Given the description of an element on the screen output the (x, y) to click on. 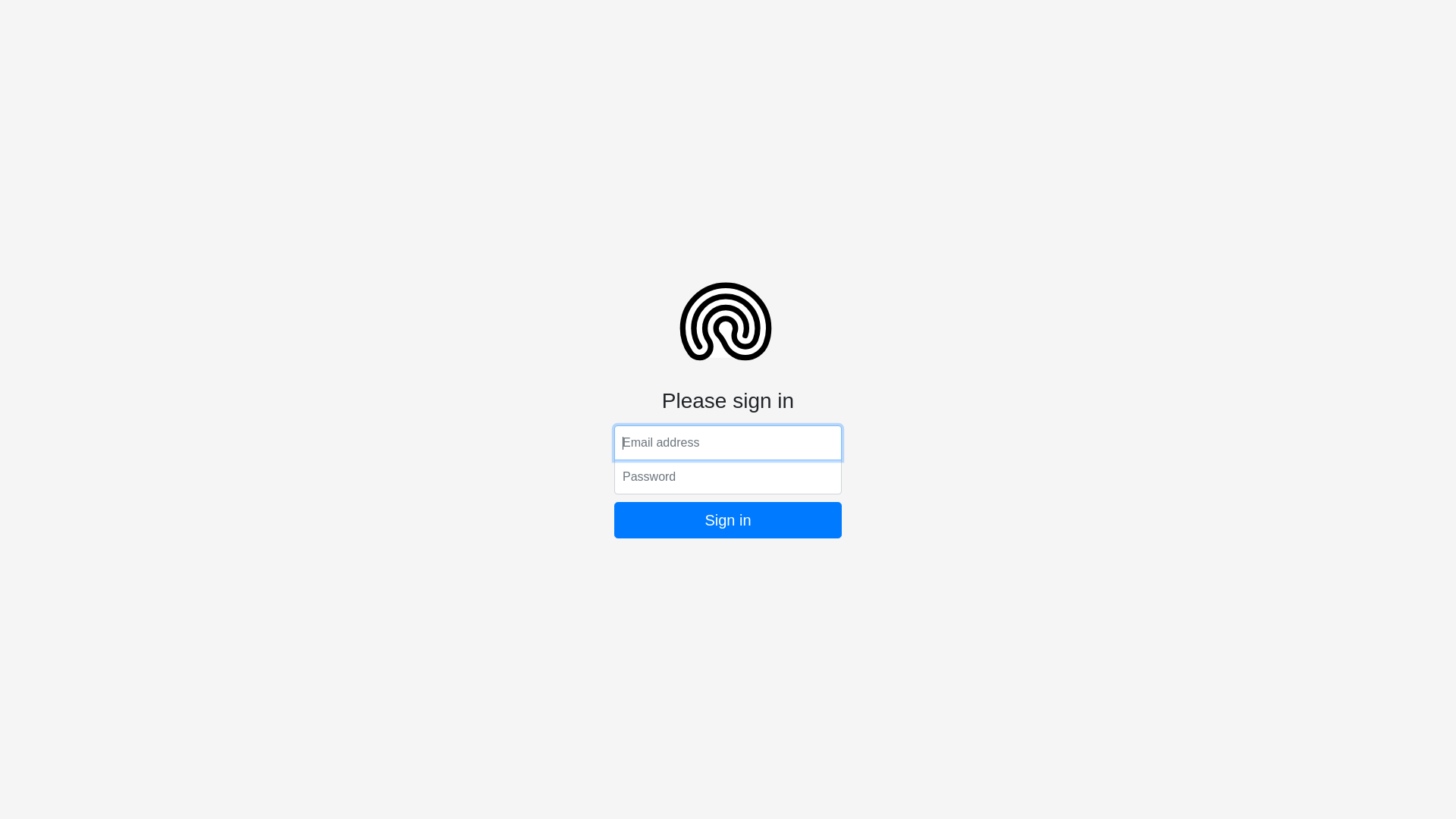
Sign in Element type: text (727, 520)
